Given the description of an element on the screen output the (x, y) to click on. 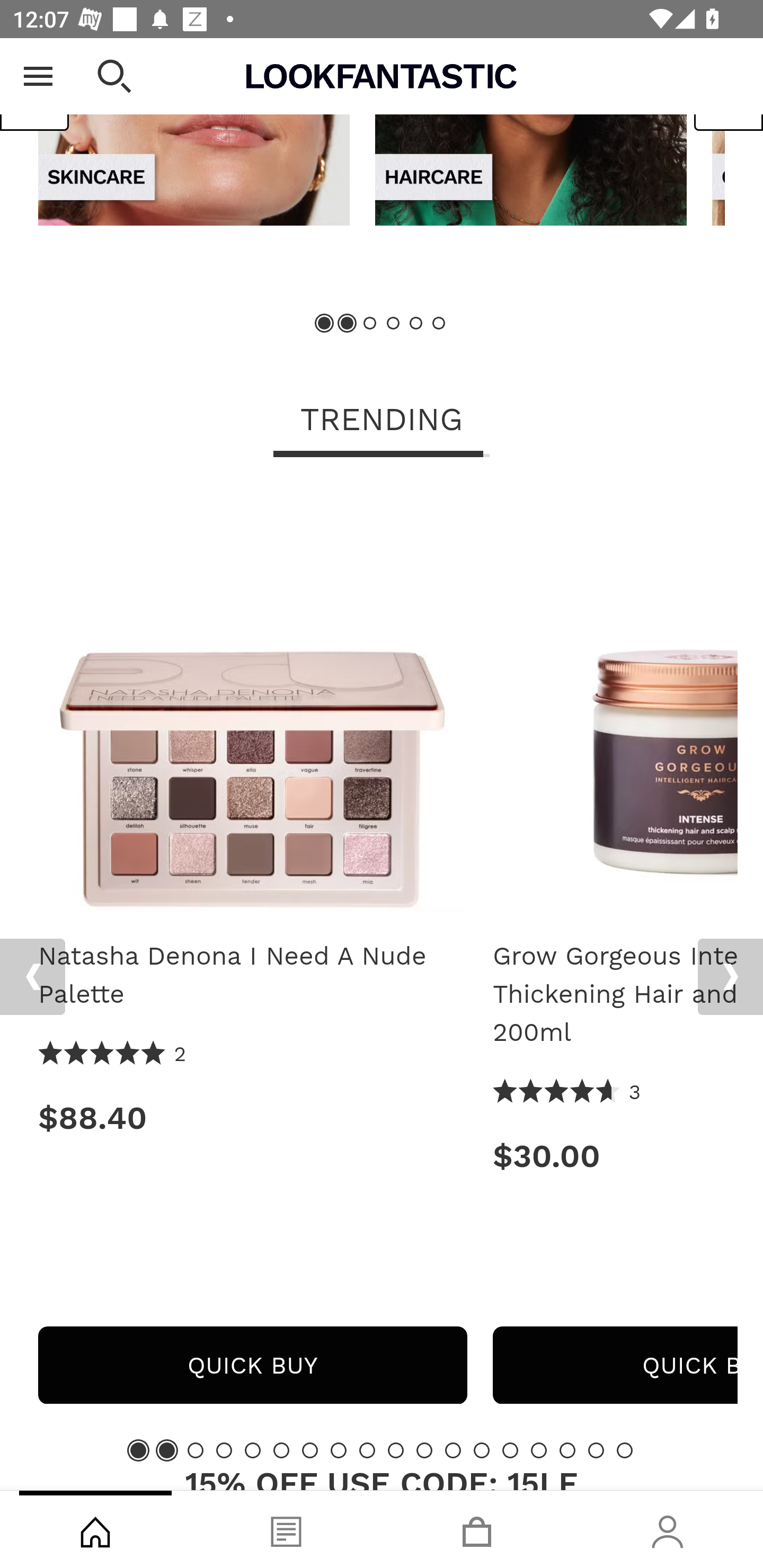
Previous (35, 90)
Showing Slide 1 (Current Item) (324, 323)
Showing Slide 2 (Current Item) (347, 323)
Slide 3 (369, 323)
Slide 4 (393, 323)
Slide 5 (415, 323)
Slide 6 (437, 323)
TRENDING (381, 420)
Natasha Denona I Need A Nude Palette (252, 703)
Natasha Denona I Need A Nude Palette (252, 975)
Previous (32, 976)
Next (730, 976)
5.0 Stars 2 Reviews (112, 1054)
4.67 Stars 3 Reviews (567, 1091)
Price: $88.40 (252, 1117)
Price: $30.00 (614, 1156)
QUICK BUY NATASHA DENONA I NEED A NUDE PALETTE (252, 1364)
Showing Slide 1 (Current Item) (138, 1449)
Showing Slide 2 (Current Item) (166, 1449)
Slide 3 (195, 1449)
Slide 4 (223, 1449)
Slide 5 (252, 1449)
Slide 6 (281, 1449)
Slide 7 (310, 1449)
Slide 8 (338, 1449)
Slide 9 (367, 1449)
Slide 10 (395, 1449)
Slide 11 (424, 1449)
Slide 12 (452, 1449)
Slide 13 (481, 1449)
Slide 14 (510, 1449)
Slide 15 (539, 1449)
Slide 16 (567, 1449)
Slide 17 (596, 1449)
Slide 18 (624, 1449)
Shop, tab, 1 of 4 (95, 1529)
Blog, tab, 2 of 4 (285, 1529)
Basket, tab, 3 of 4 (476, 1529)
Account, tab, 4 of 4 (667, 1529)
